Given the description of an element on the screen output the (x, y) to click on. 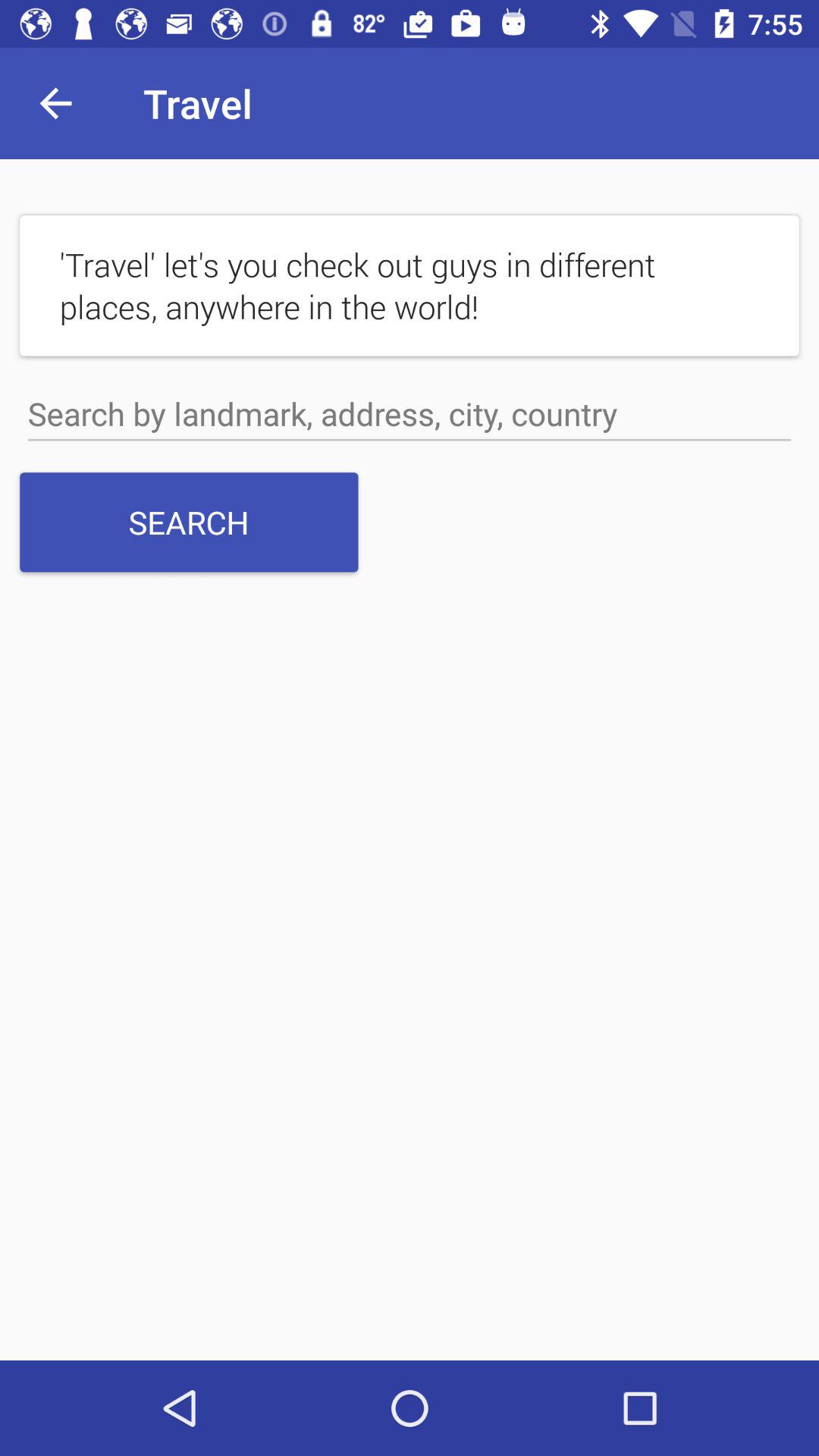
search box (409, 413)
